Given the description of an element on the screen output the (x, y) to click on. 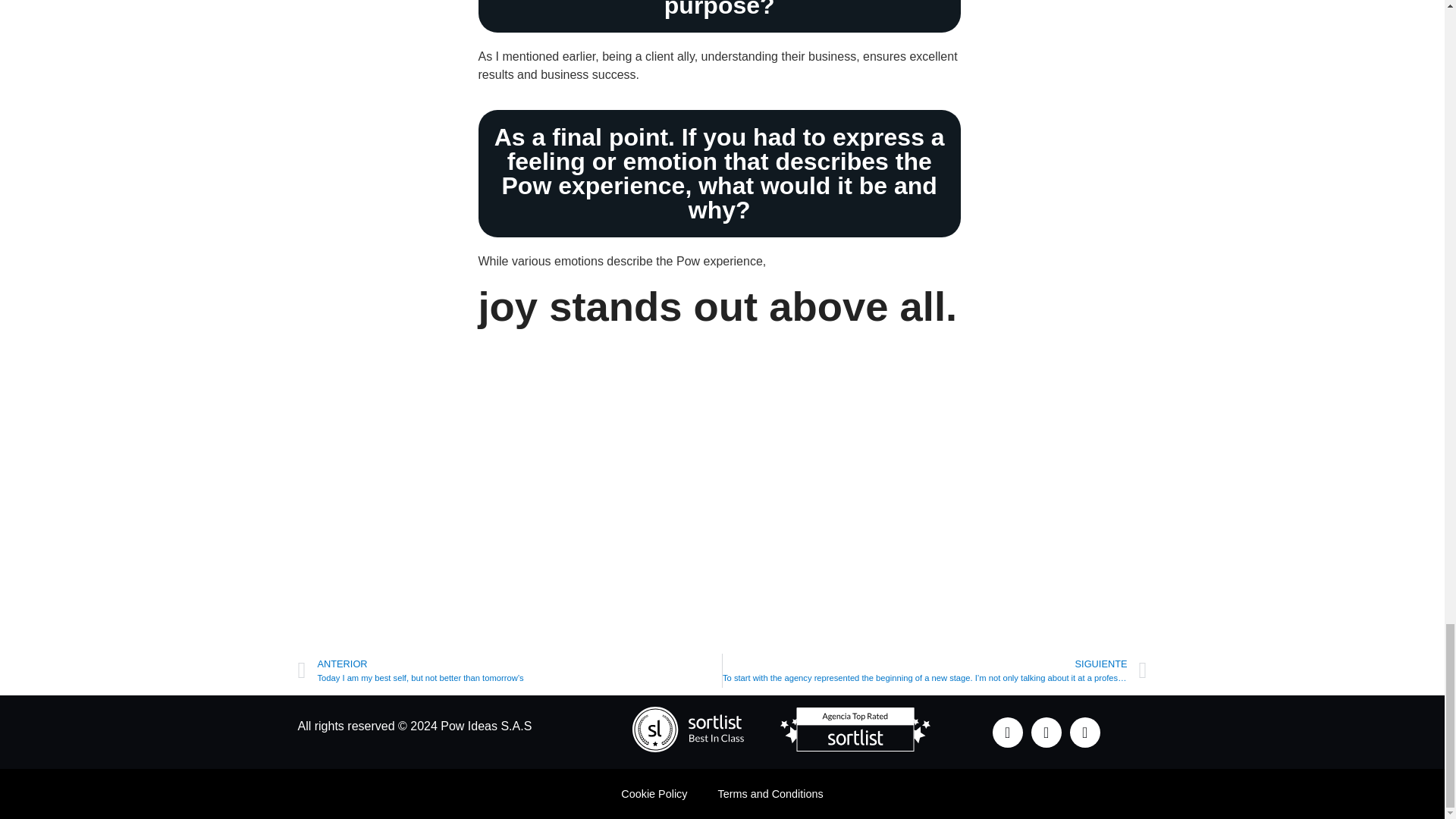
Terms and Conditions (769, 793)
Cookie Policy (653, 793)
